Given the description of an element on the screen output the (x, y) to click on. 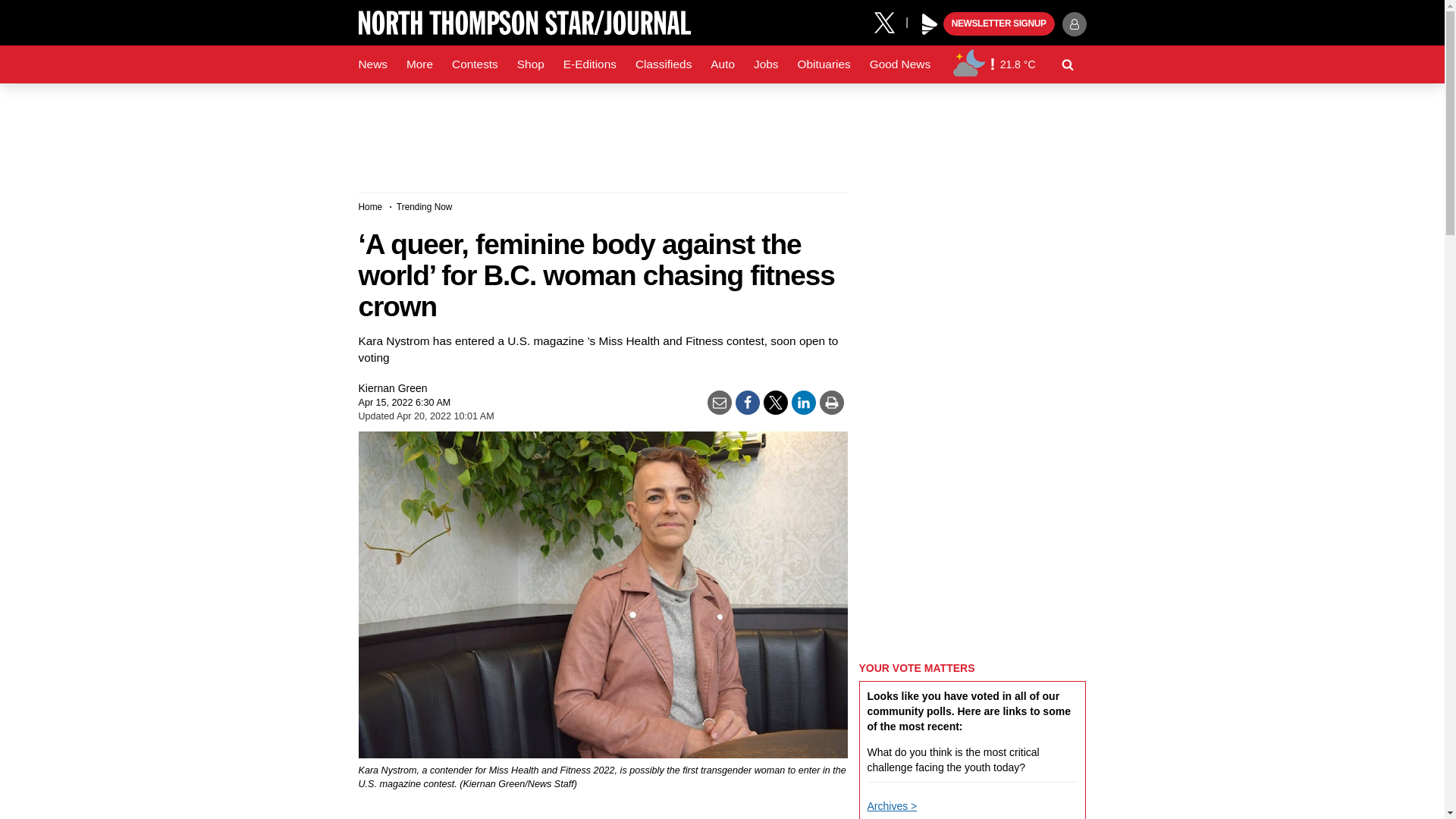
NEWSLETTER SIGNUP (998, 24)
3rd party ad content (721, 131)
News (372, 64)
Black Press Media (929, 24)
Play (929, 24)
X (889, 21)
